Given the description of an element on the screen output the (x, y) to click on. 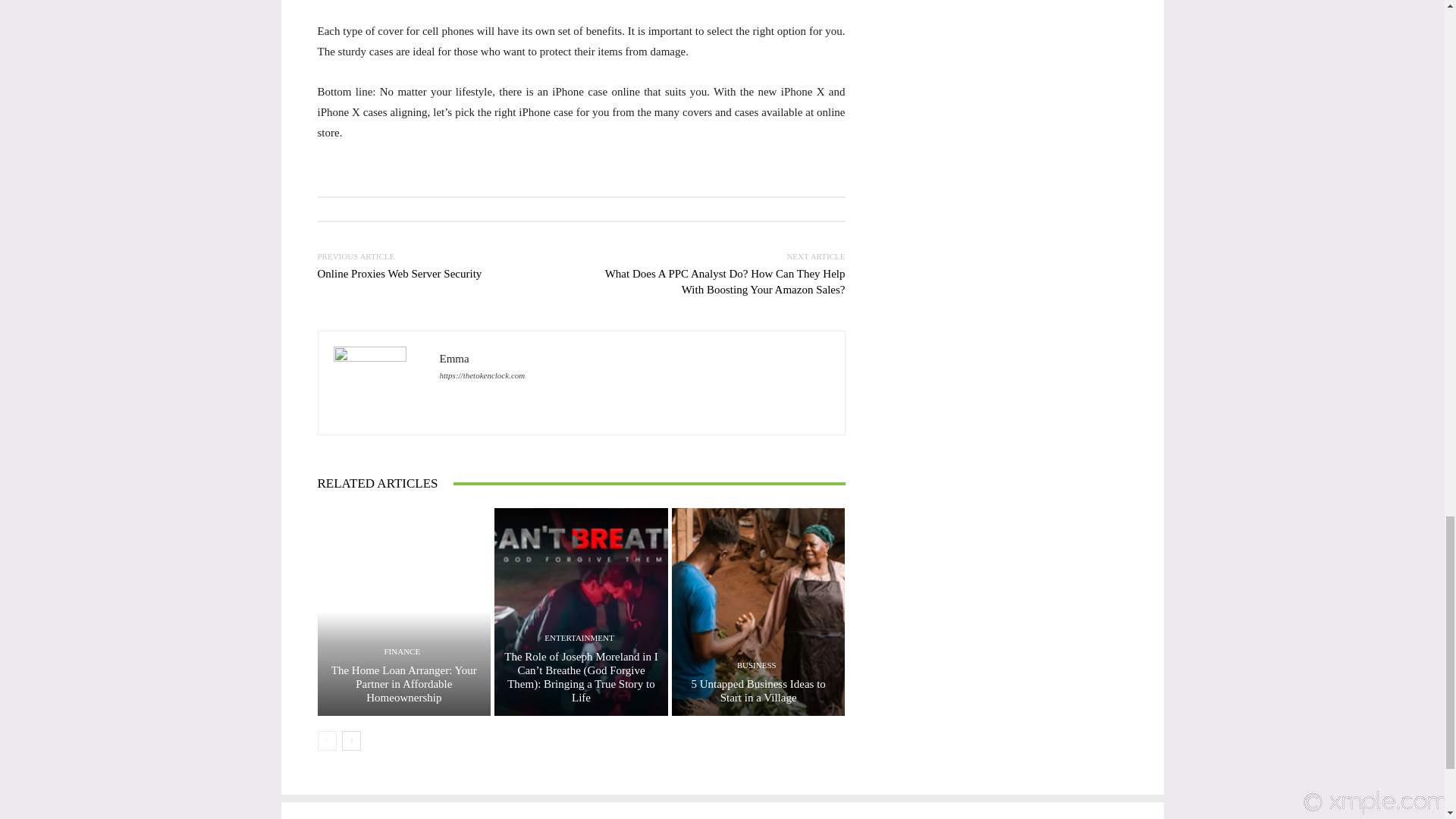
5 Untapped Business Ideas to Start in a Village (757, 690)
